Given the description of an element on the screen output the (x, y) to click on. 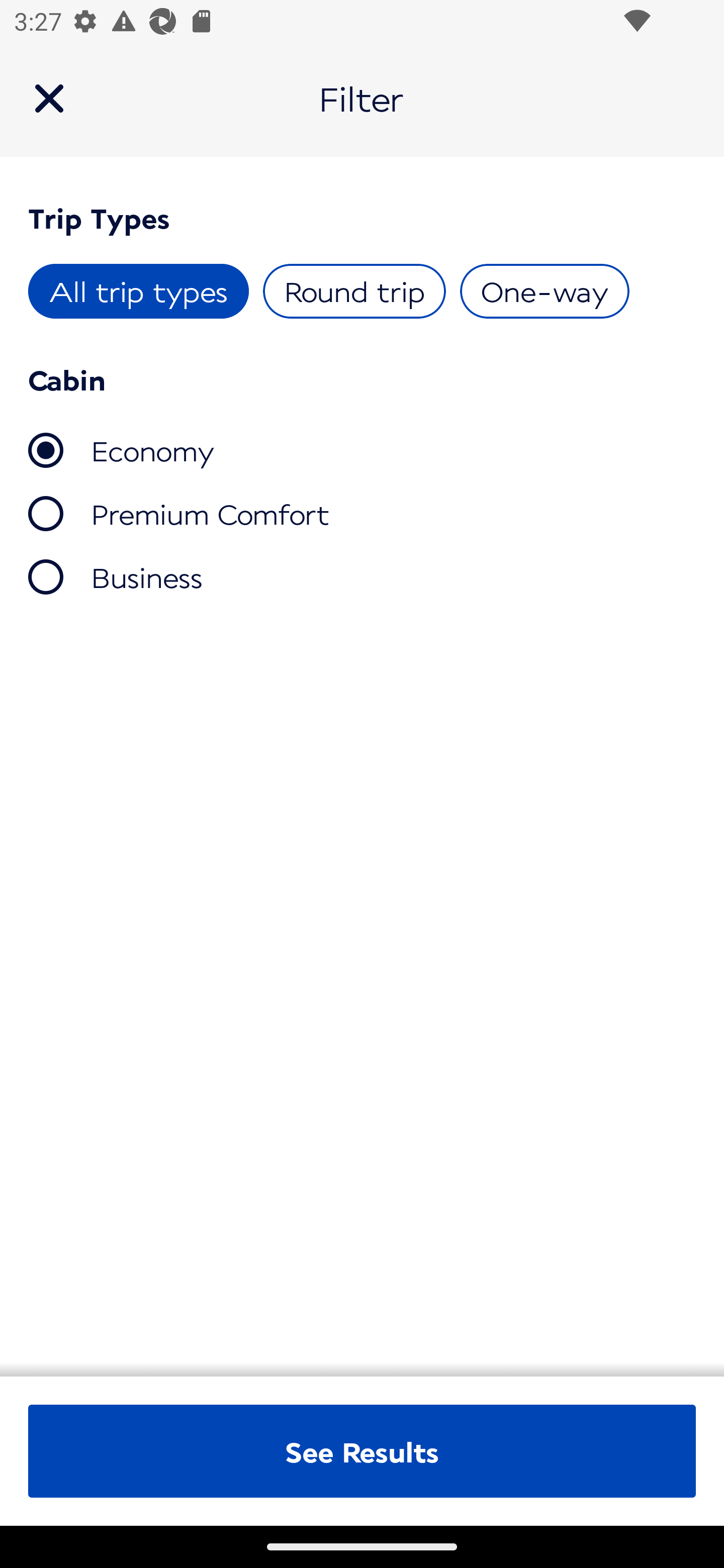
All trip types (138, 291)
Round trip (353, 291)
One-way (544, 291)
See Results (361, 1450)
